Given the description of an element on the screen output the (x, y) to click on. 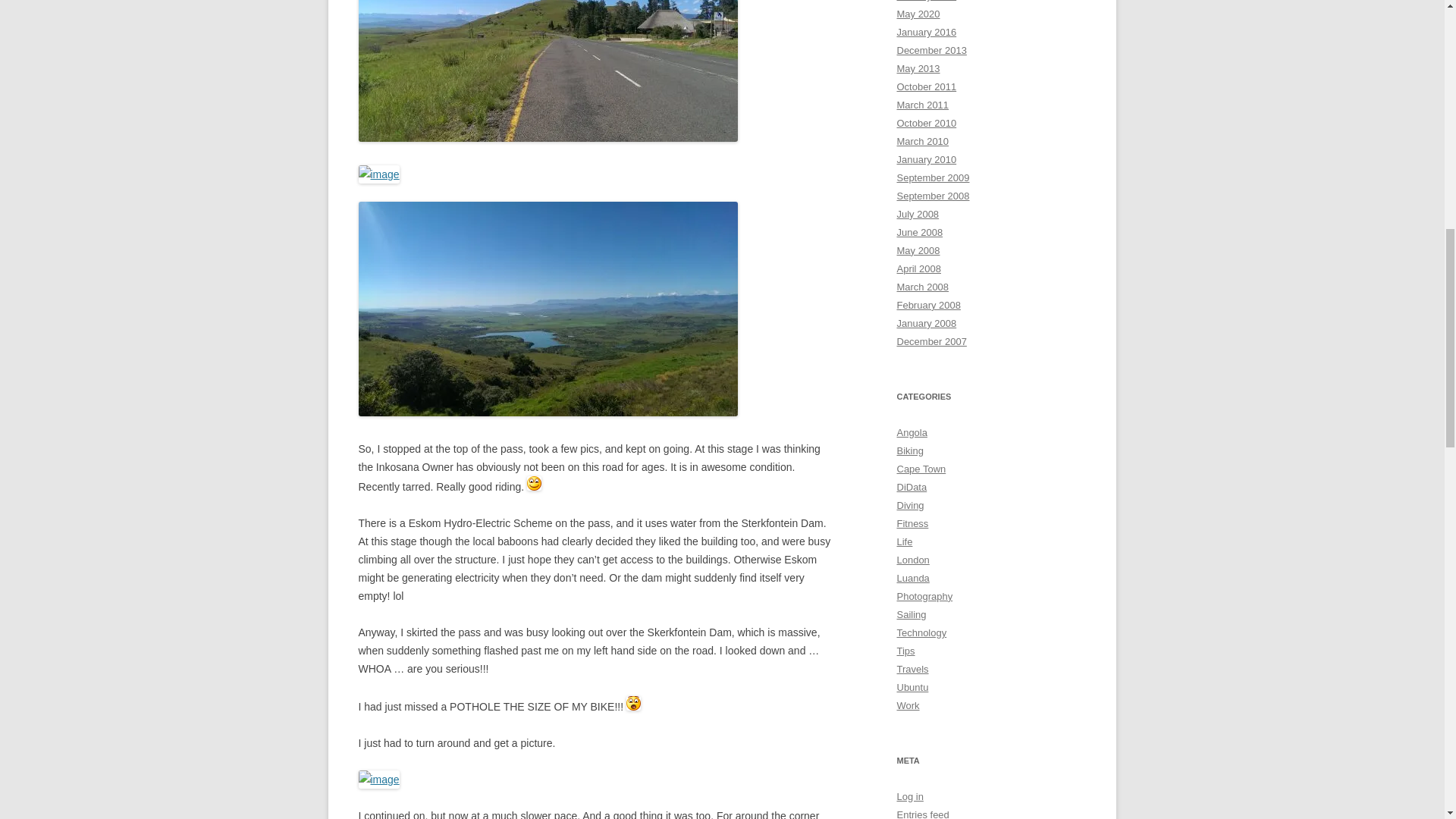
IMAG1037.jpg (378, 174)
IMAG1043.jpg (378, 779)
IMAG1035.jpg (547, 70)
IMAG1038.jpg (547, 308)
